Given the description of an element on the screen output the (x, y) to click on. 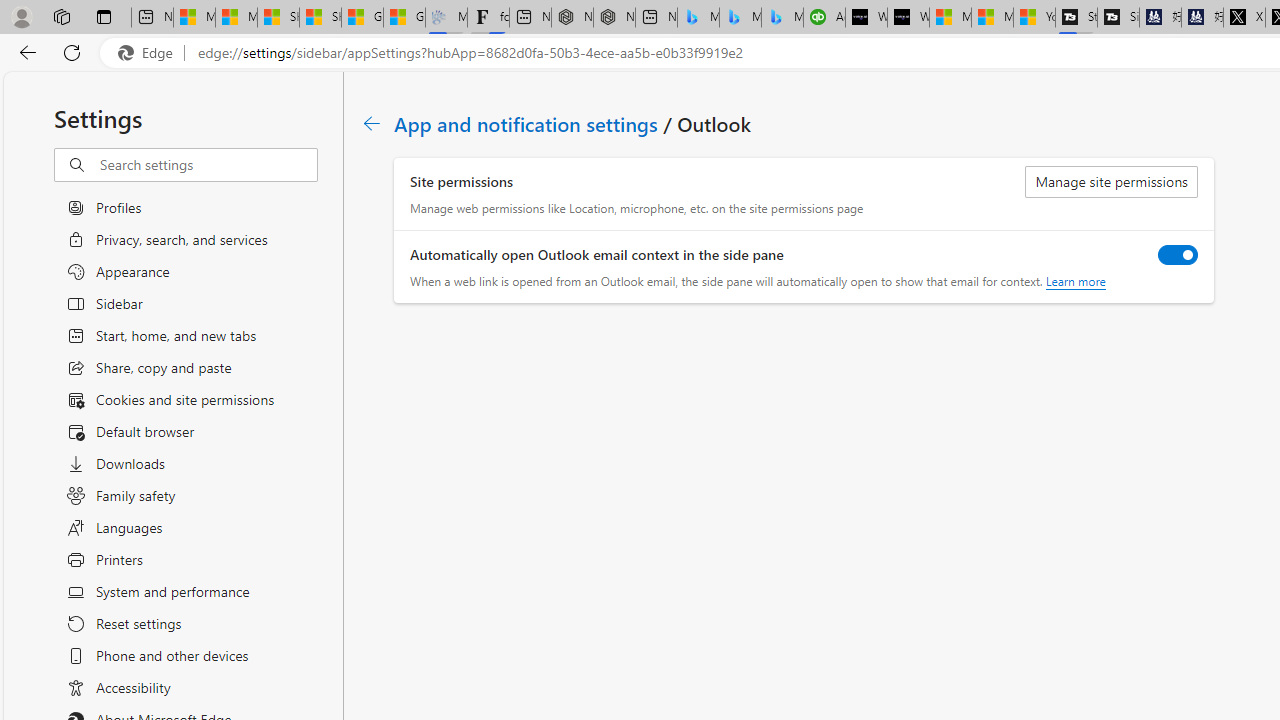
Accounting Software for Accountants, CPAs and Bookkeepers (823, 17)
Search settings (207, 165)
Microsoft Bing Travel - Shangri-La Hotel Bangkok (781, 17)
Automatically open Outlook email context in the side pane (1178, 254)
Streaming Coverage | T3 (1076, 17)
